Given the description of an element on the screen output the (x, y) to click on. 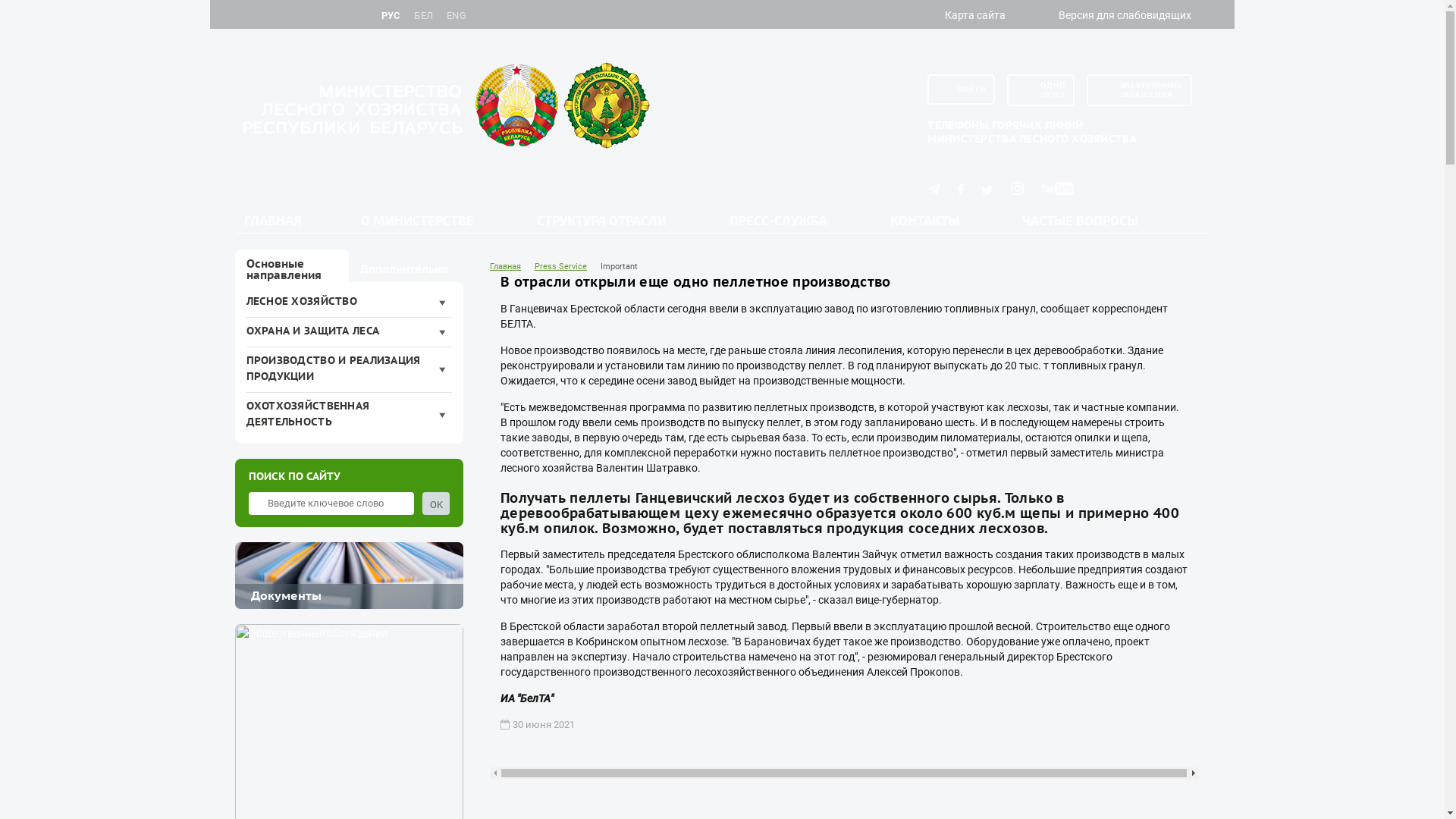
OK Element type: text (435, 503)
Press Service Element type: text (560, 266)
ENG Element type: text (456, 16)
